Given the description of an element on the screen output the (x, y) to click on. 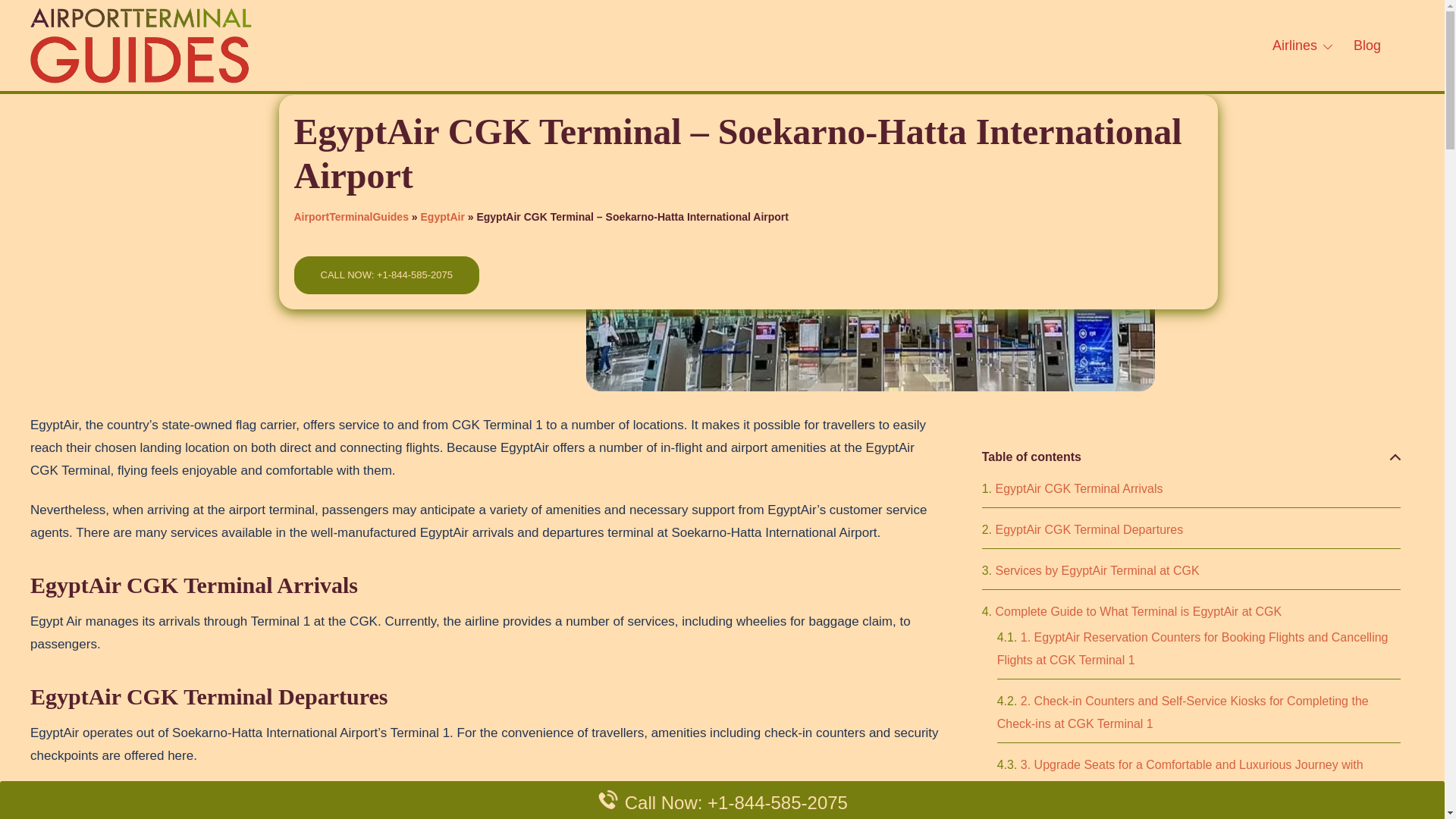
Blog (1367, 45)
AirportTerminalGuides.com (140, 43)
Services by EgyptAir Terminal at CGK (1090, 570)
EgyptAir CGK Terminal Departures (1082, 529)
Airlines (1294, 45)
Complete Guide to What Terminal is EgyptAir at CGK (1131, 611)
EgyptAir CGK Terminal Arrivals (1072, 488)
